Given the description of an element on the screen output the (x, y) to click on. 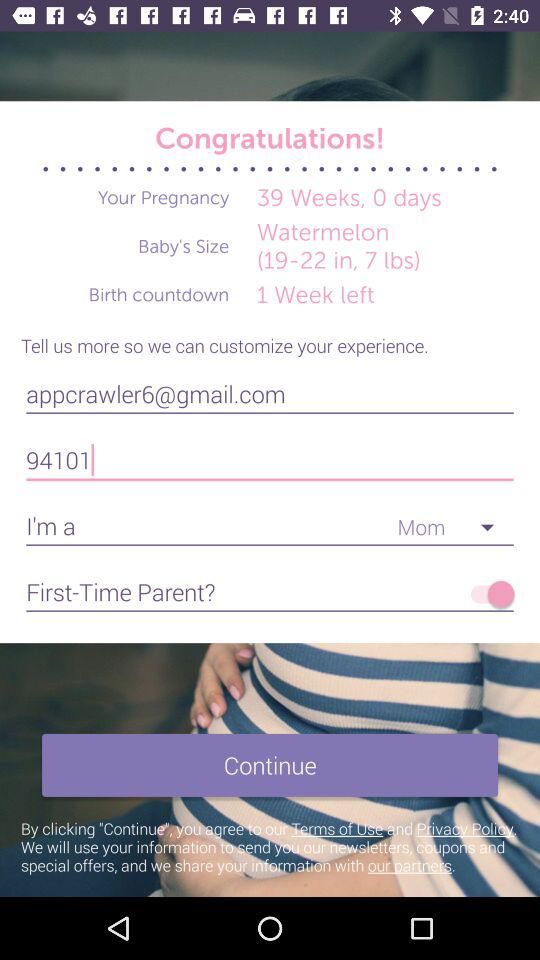
scroll until 94101 icon (270, 460)
